Given the description of an element on the screen output the (x, y) to click on. 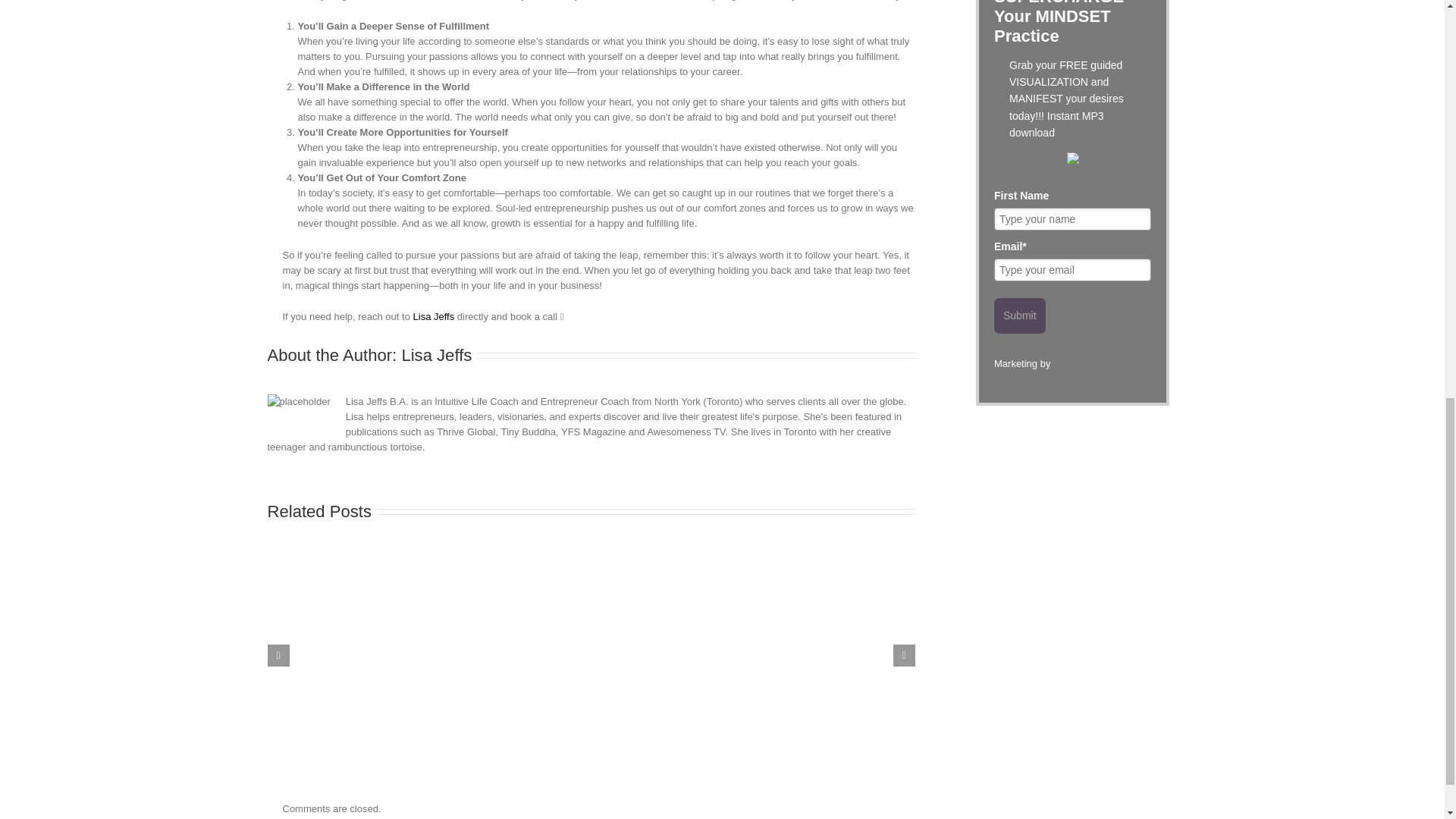
Posts by Lisa Jeffs (436, 354)
Lisa Jeffs (433, 316)
Lisa Jeffs (436, 354)
